Given the description of an element on the screen output the (x, y) to click on. 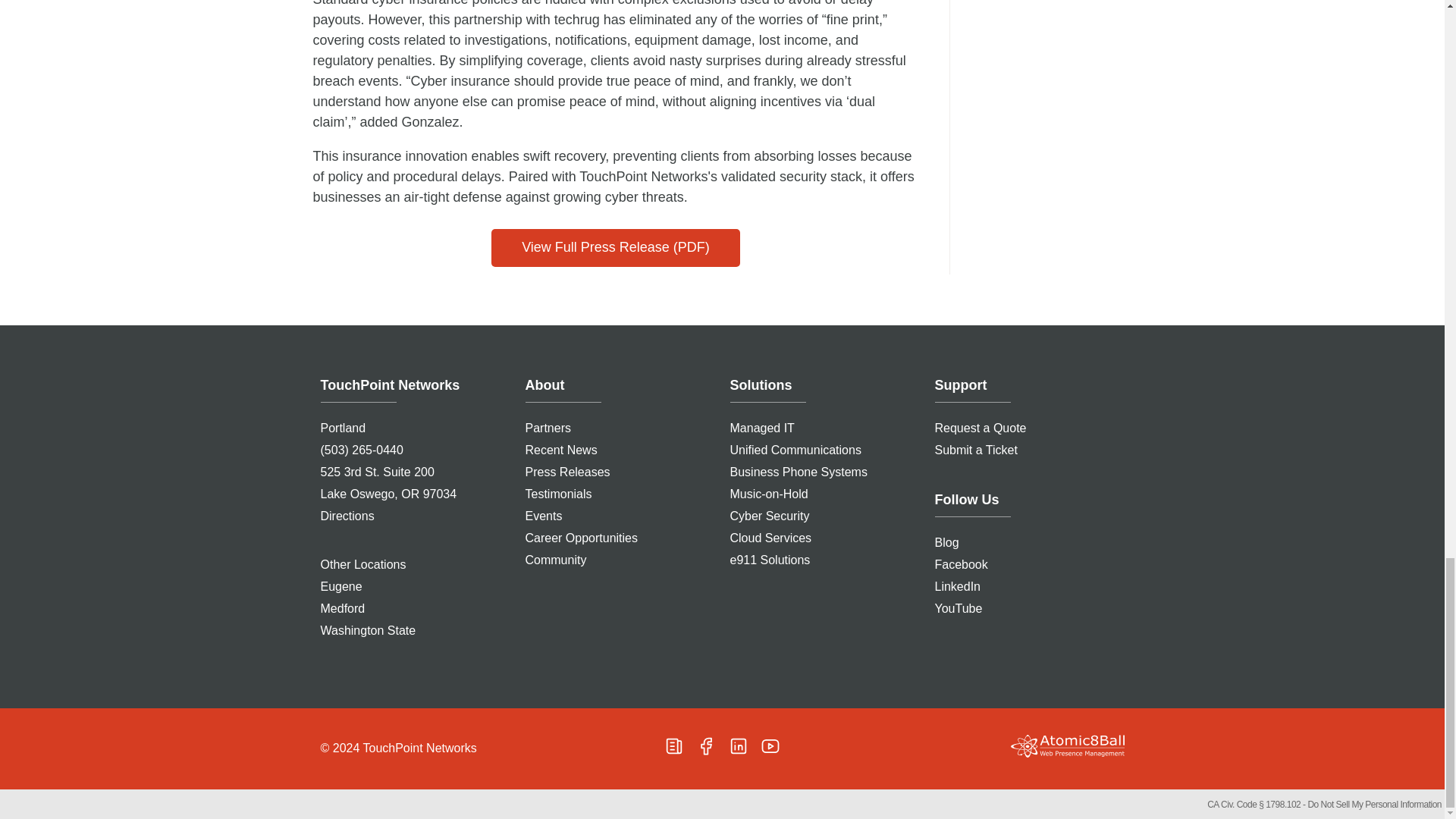
LinkedIn (738, 745)
YouTube (770, 745)
Blog Articles (673, 745)
Facebook (705, 745)
